Given the description of an element on the screen output the (x, y) to click on. 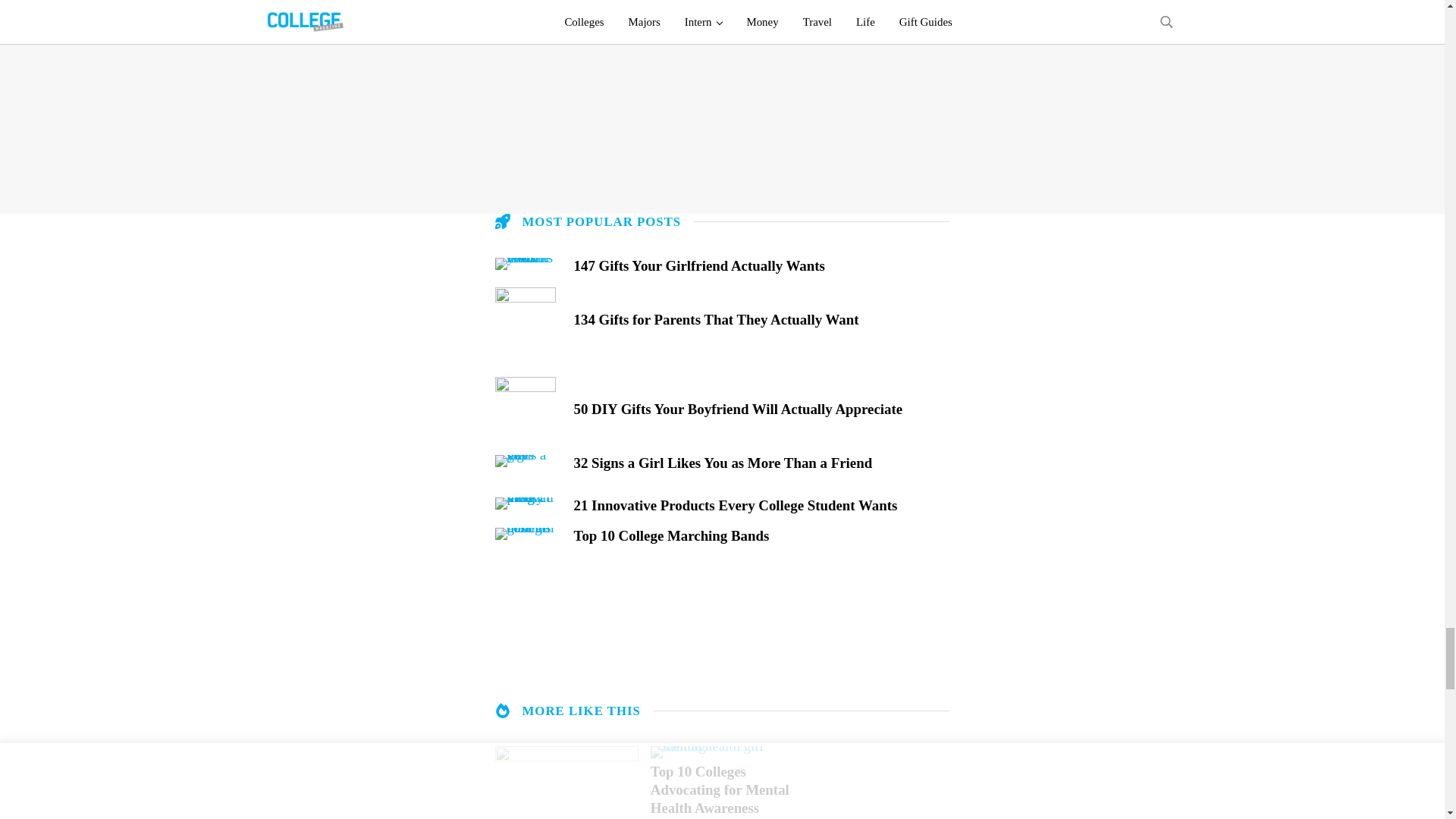
147 Gifts Your Girlfriend Actually Wants (761, 266)
